Given the description of an element on the screen output the (x, y) to click on. 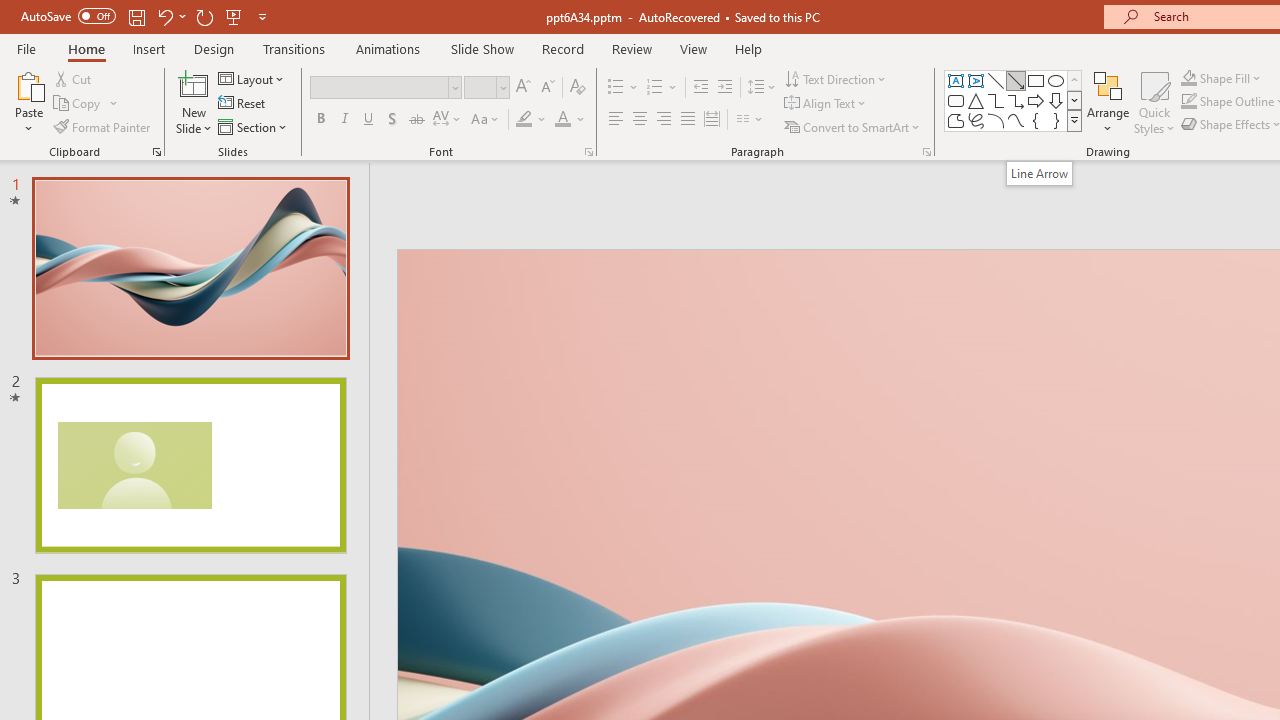
Shapes (1074, 120)
Text Direction (836, 78)
Right Brace (1055, 120)
Paste (28, 84)
Bold (320, 119)
Copy (85, 103)
Oval (1055, 80)
Align Left (616, 119)
Bullets (623, 87)
Rectangle: Rounded Corners (955, 100)
Paste (28, 102)
